Given the description of an element on the screen output the (x, y) to click on. 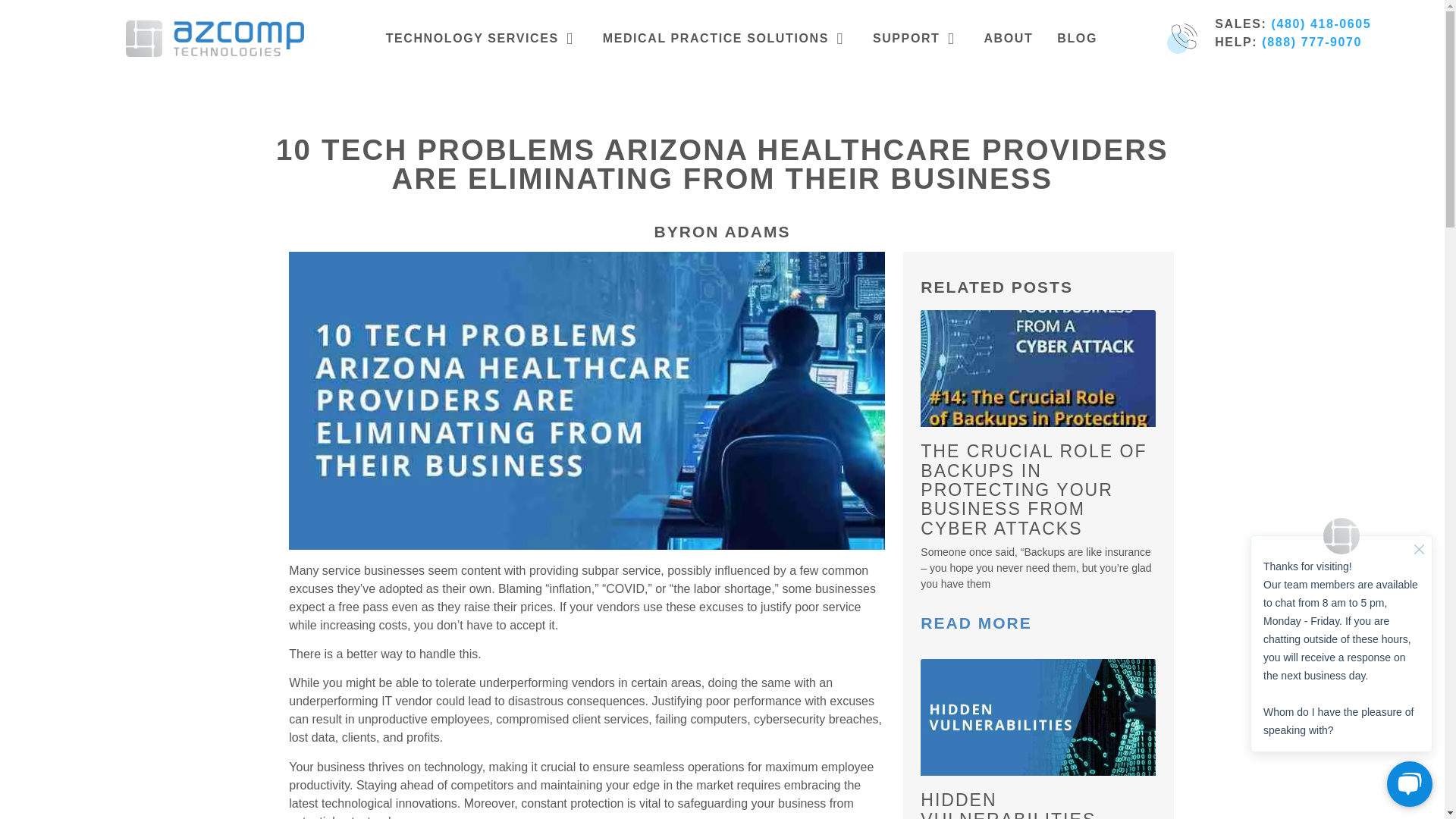
ABOUT (1008, 38)
SalesIcon.png - AZCOMP Technologies (1181, 38)
azcomp-lg-logo - AZCOMP Technologies (214, 38)
MEDICAL PRACTICE SOLUTIONS (715, 38)
TECHNOLOGY SERVICES (472, 38)
BLOG (1077, 38)
SUPPORT (906, 38)
